Given the description of an element on the screen output the (x, y) to click on. 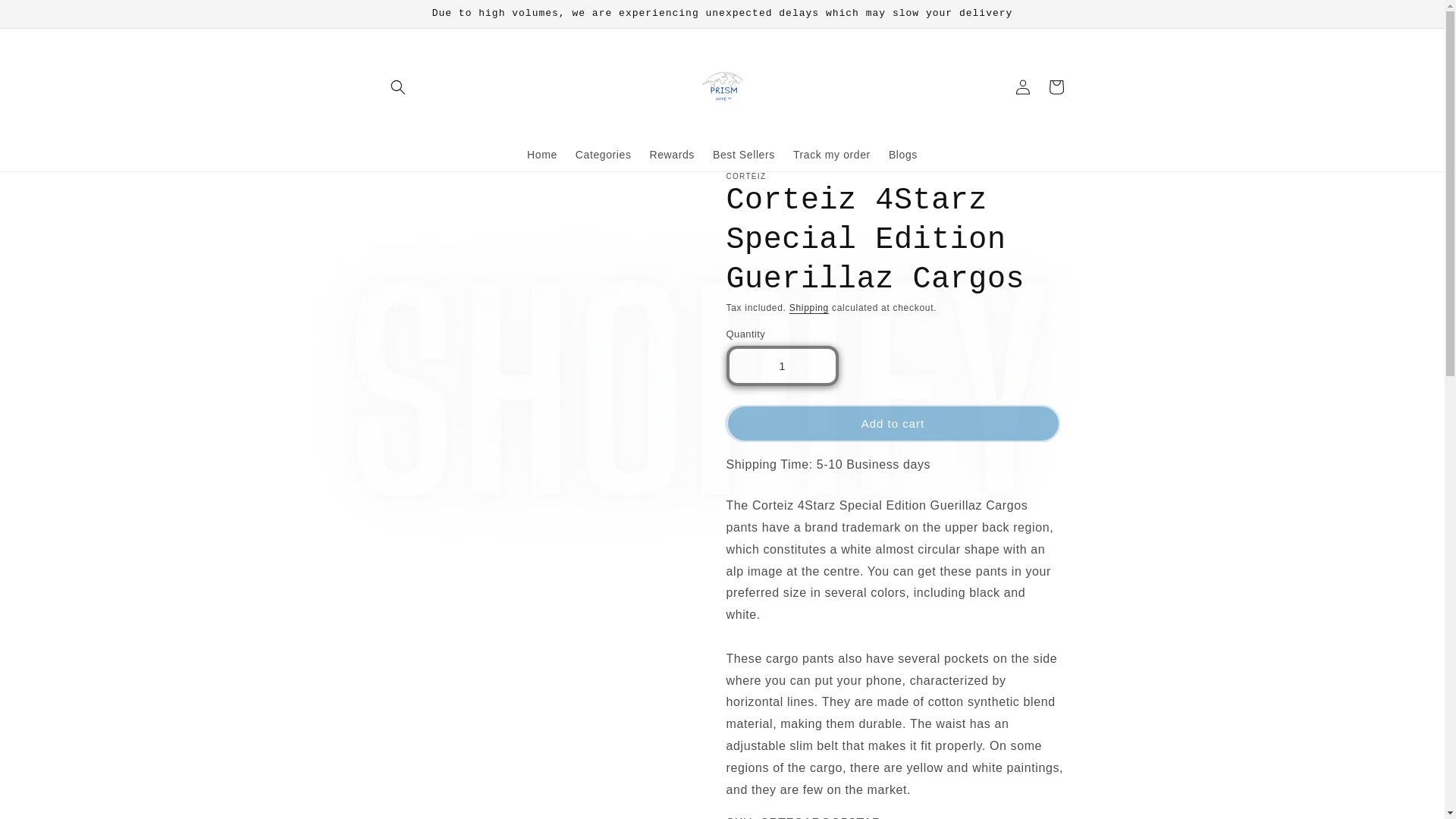
Cart (1055, 87)
Track my order (831, 154)
Shipping (808, 307)
Log in (1022, 87)
Categories (603, 154)
Skip to product information (427, 189)
Rewards (671, 154)
1 (782, 365)
Best Sellers (743, 154)
Home (542, 154)
Blogs (902, 154)
Skip to content (46, 18)
